Given the description of an element on the screen output the (x, y) to click on. 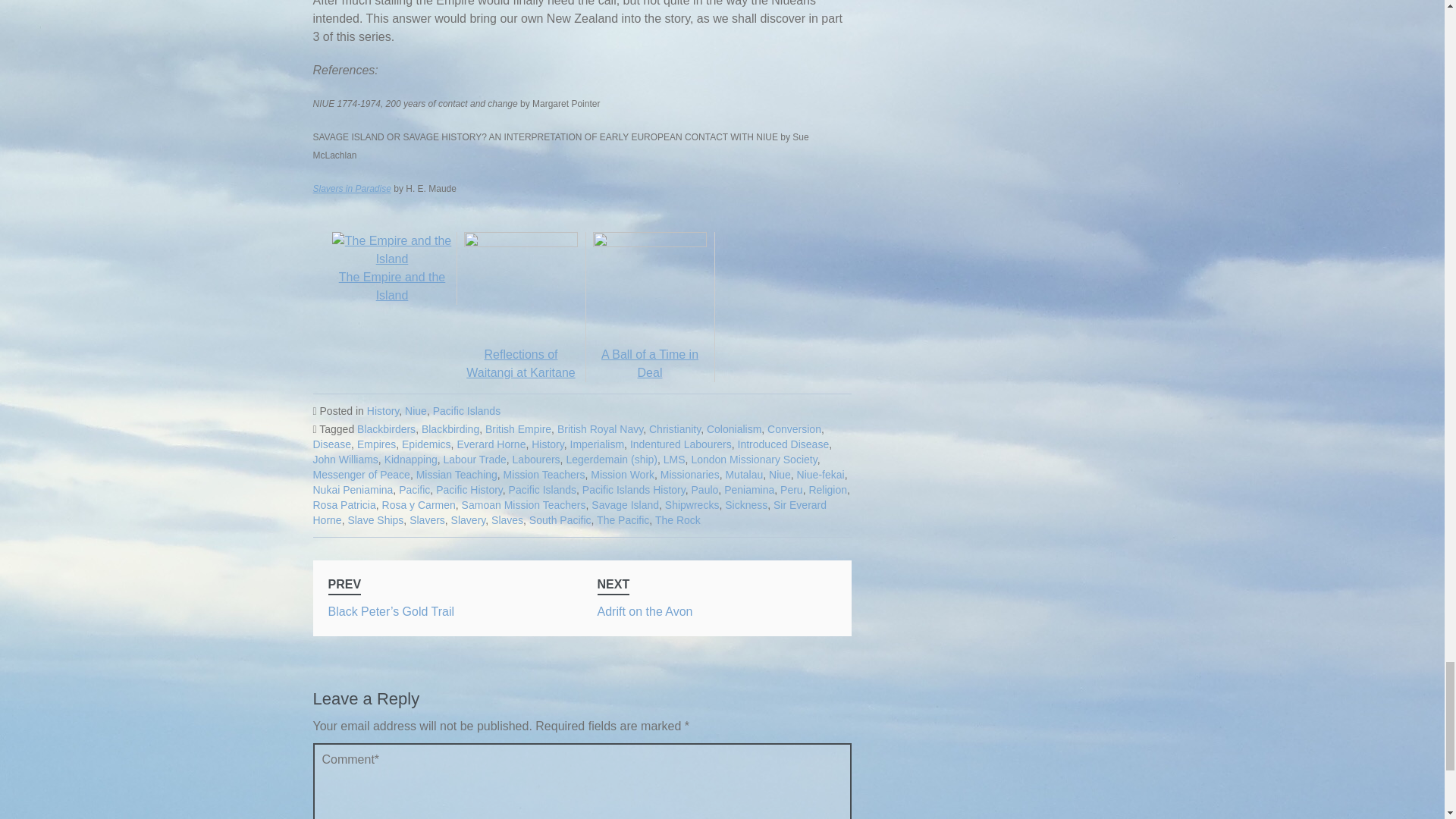
Pacific Islands (466, 410)
British Empire (517, 428)
Slavers in Paradise (351, 188)
Blackbirding (450, 428)
History (382, 410)
British Royal Navy (600, 428)
Niue (415, 410)
The Empire and the Island (391, 277)
Blackbirders (385, 428)
